Given the description of an element on the screen output the (x, y) to click on. 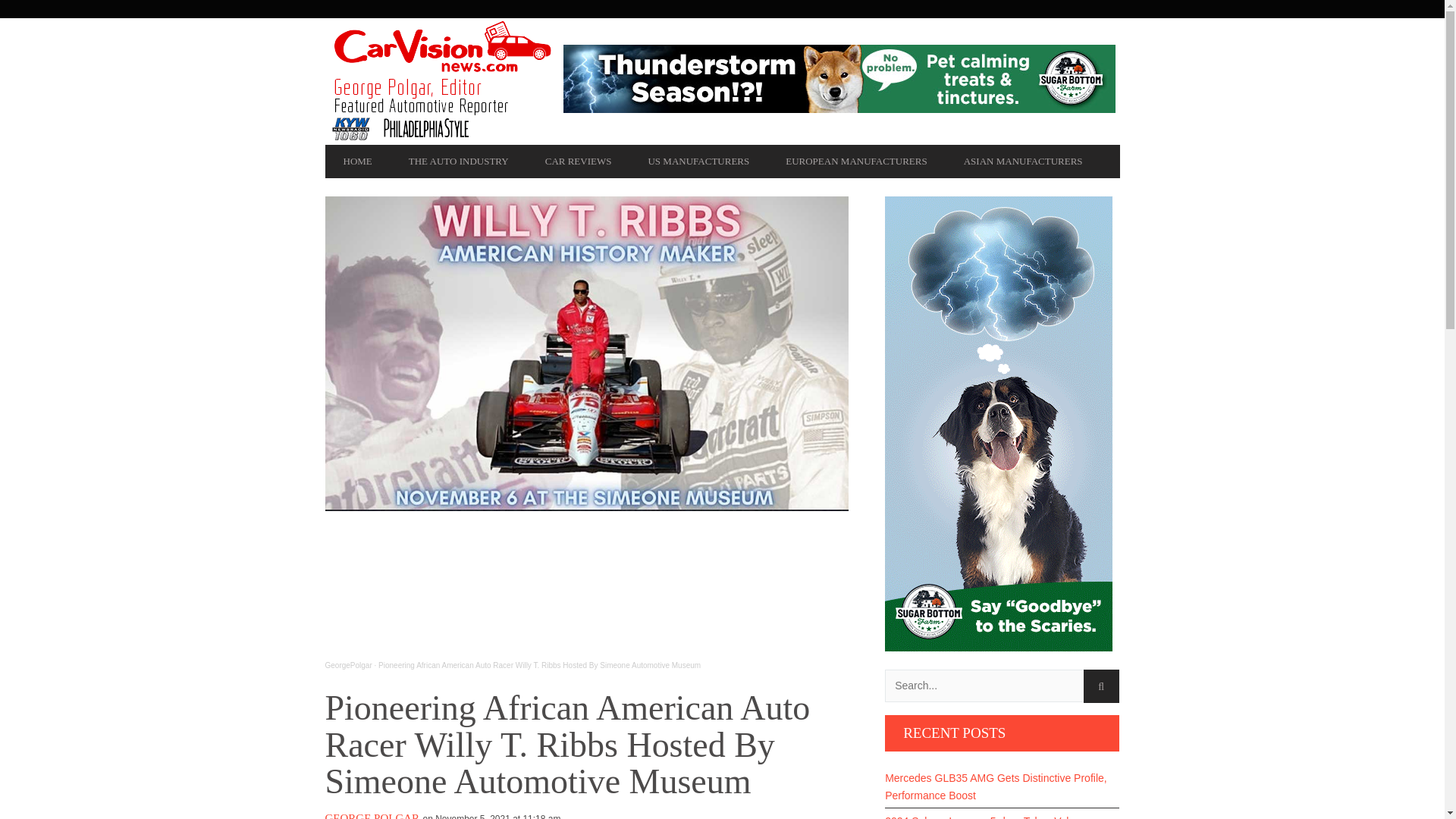
GeorgePolgar (347, 664)
Posts by George Polgar (371, 815)
CarVisionNews.com (443, 81)
